Given the description of an element on the screen output the (x, y) to click on. 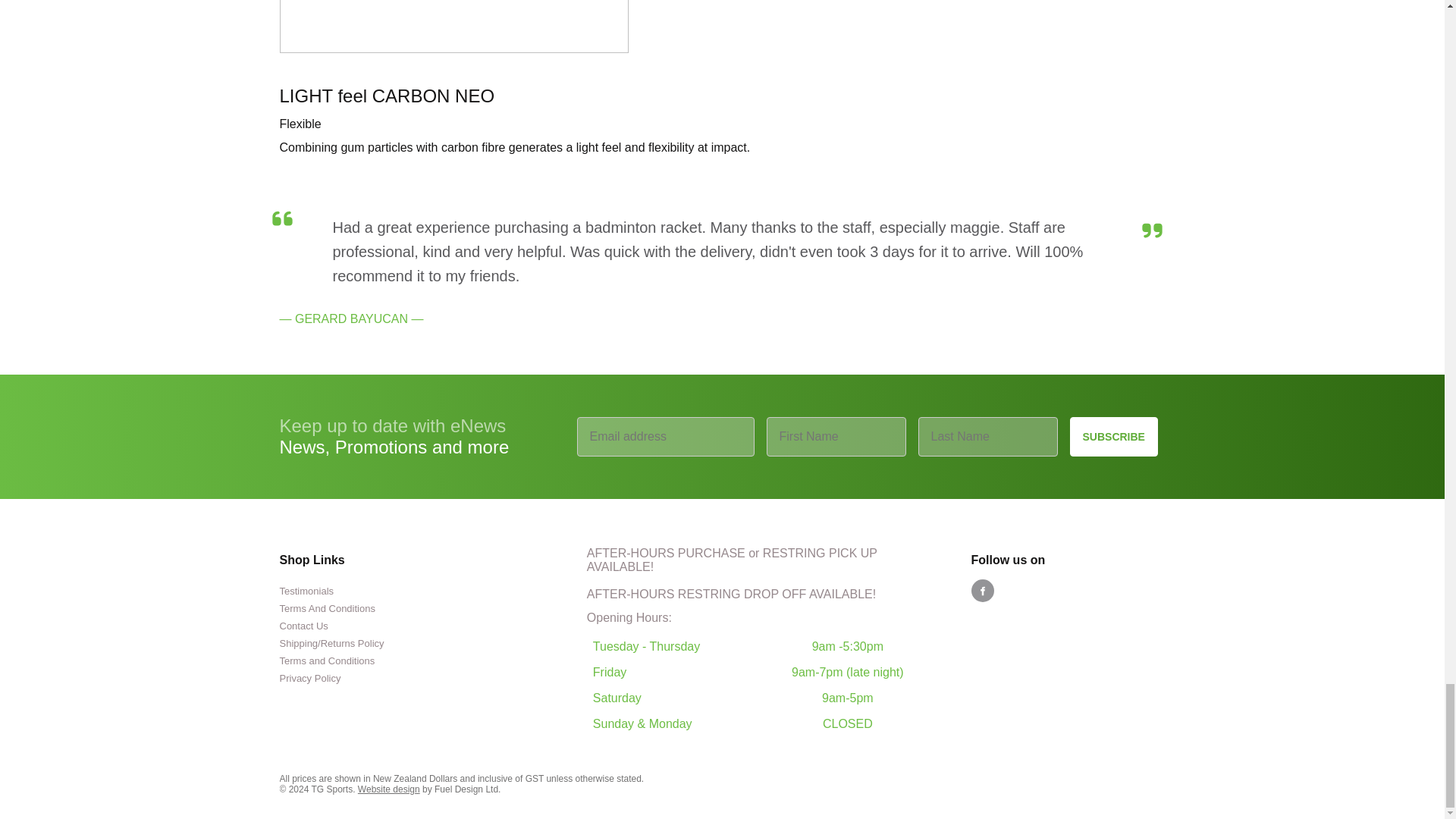
Facebook (981, 590)
Auckland website design (389, 788)
Testimonials (306, 591)
Terms And Conditions (326, 608)
Contact Us (303, 625)
SUBSCRIBE (1112, 436)
